Given the description of an element on the screen output the (x, y) to click on. 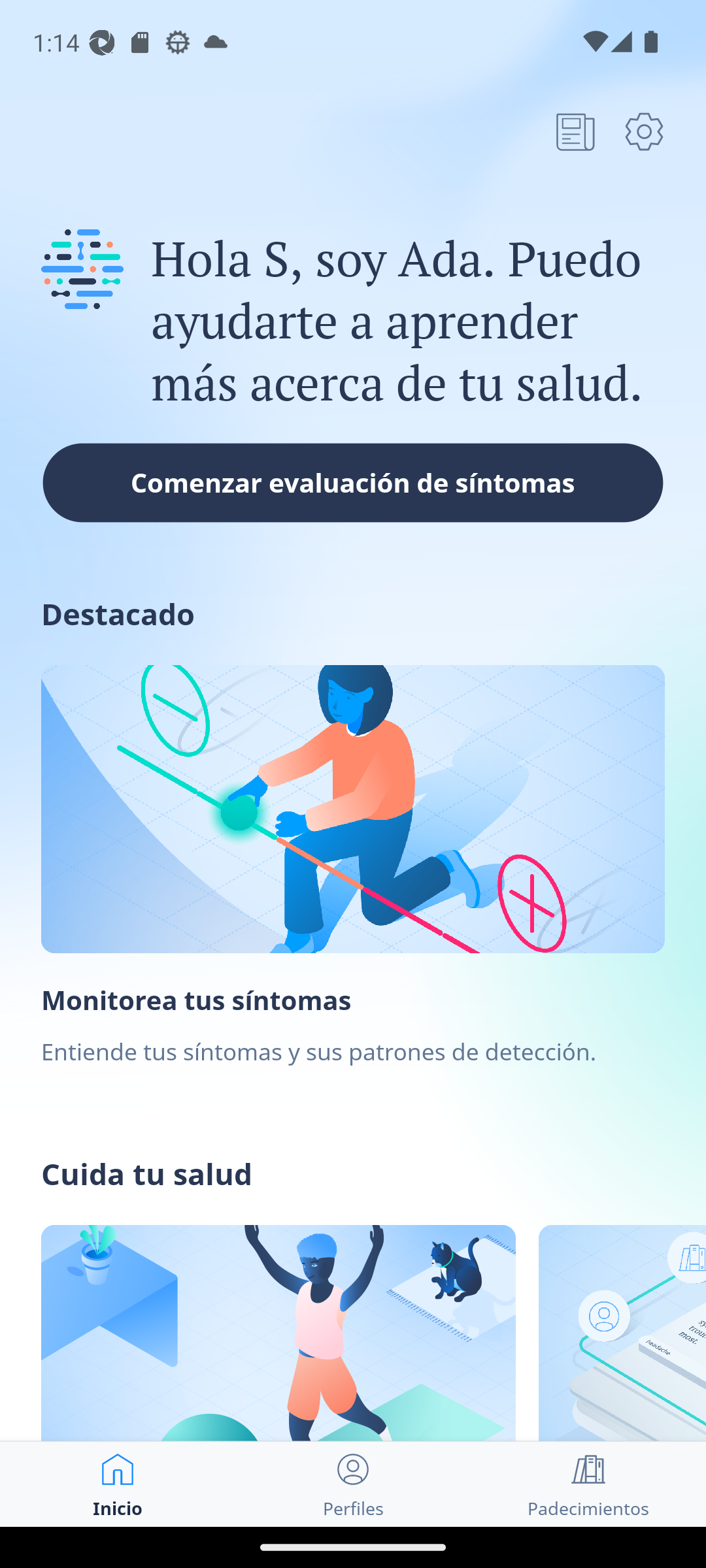
article icon , open articles (574, 131)
settings icon, open settings (644, 131)
Comenzar evaluación de síntomas (352, 482)
Inicio (117, 1484)
Perfiles (352, 1484)
Padecimientos (588, 1484)
